Given the description of an element on the screen output the (x, y) to click on. 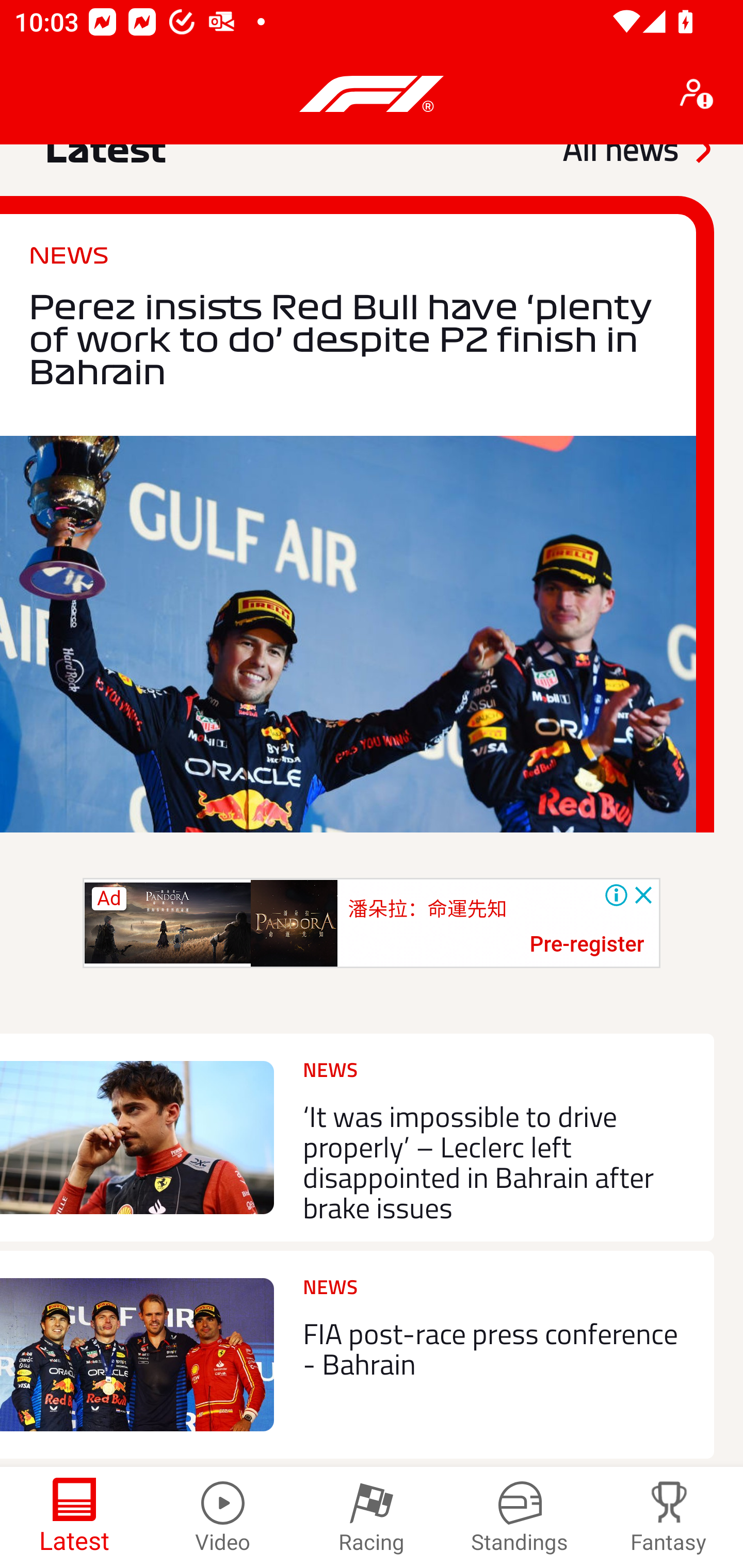
All news See all (635, 159)
潘朵拉：命運先知 (427, 908)
Pre-register (586, 945)
Video (222, 1517)
Racing (371, 1517)
Standings (519, 1517)
Fantasy (668, 1517)
